Given the description of an element on the screen output the (x, y) to click on. 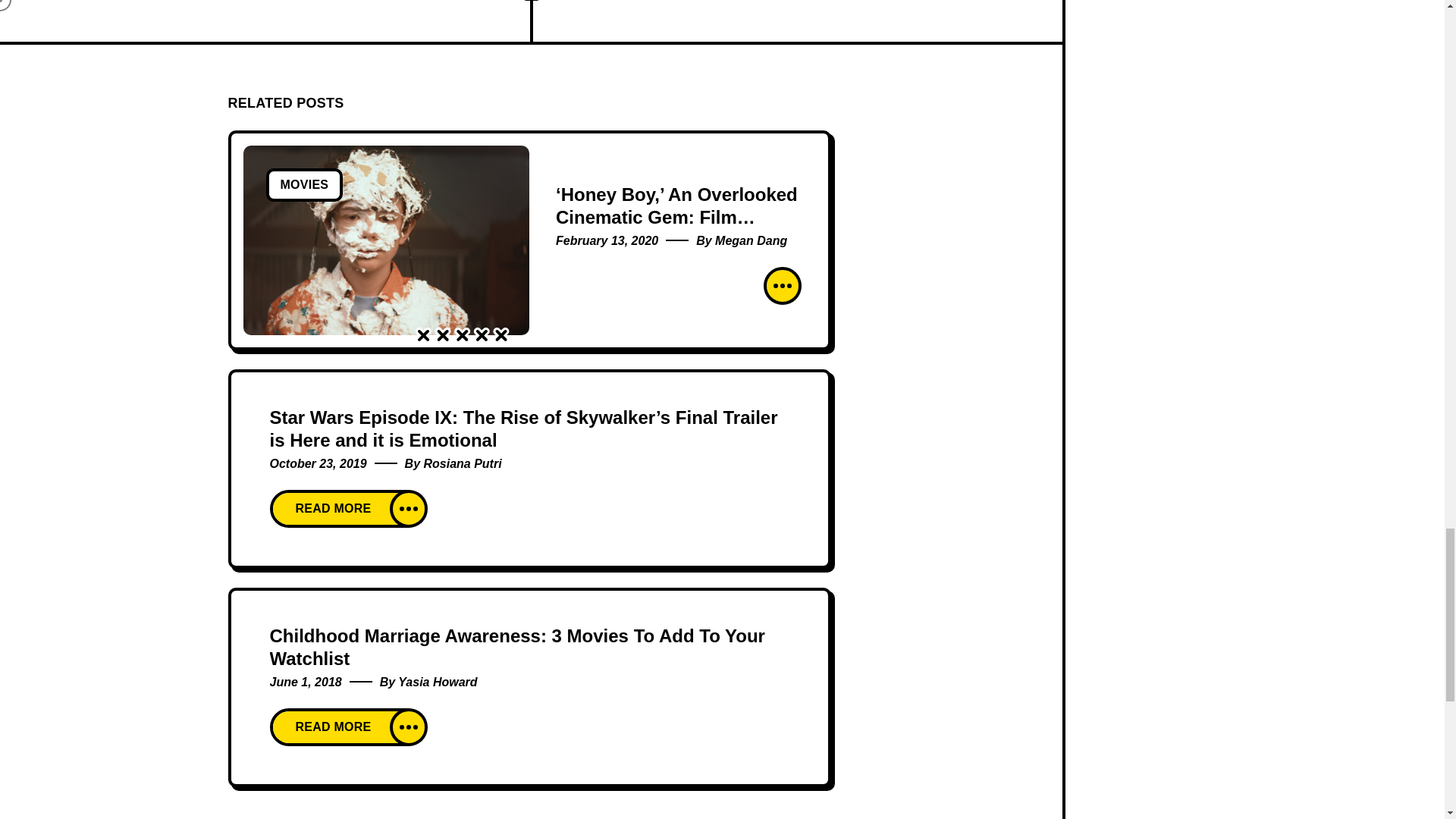
Book Review: The End We Start From - Megan Hunter (298, 20)
Five Tips for Getting Your First Tattoo (761, 20)
